Given the description of an element on the screen output the (x, y) to click on. 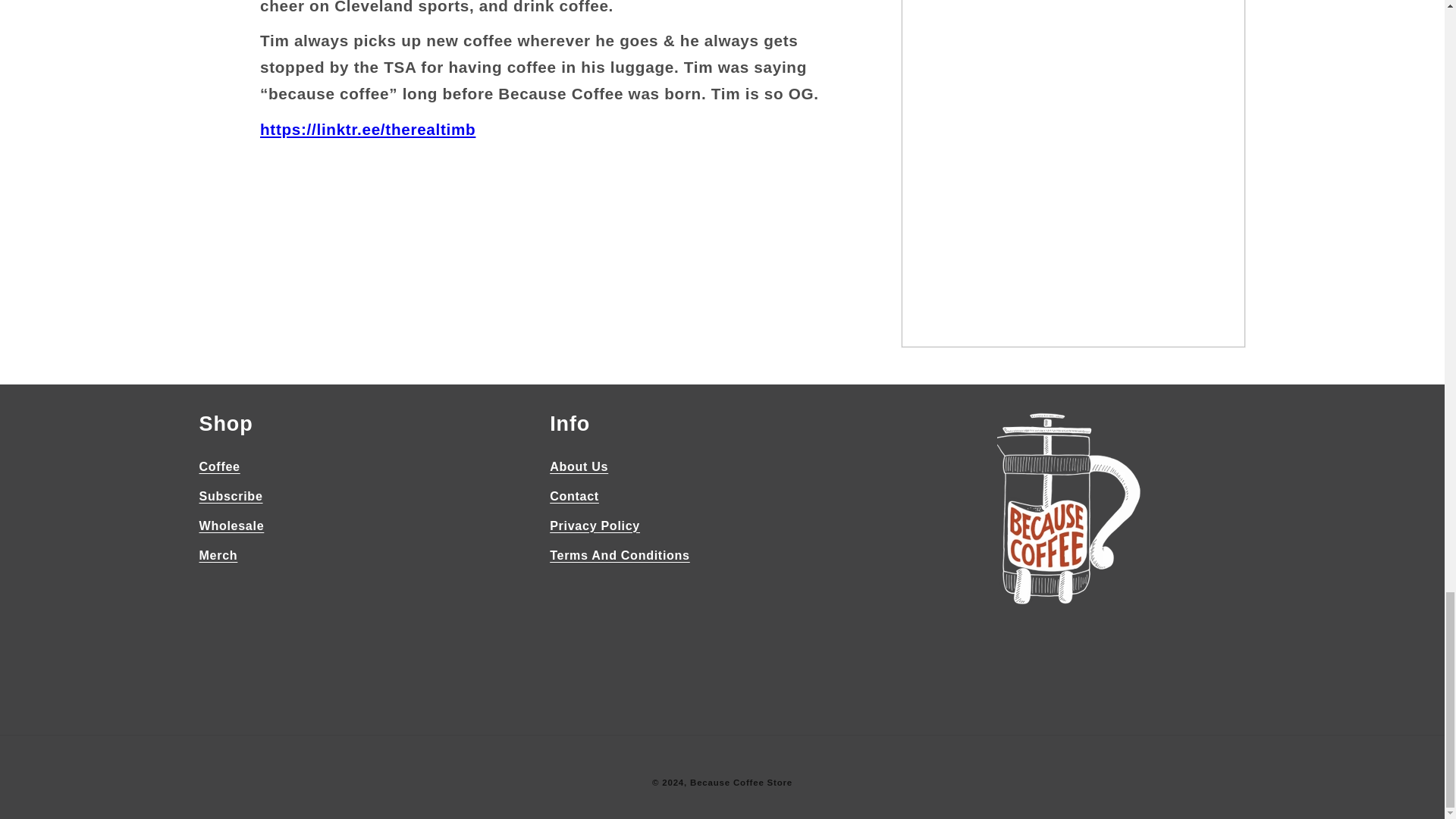
Coffee (219, 468)
Wholesale (230, 525)
About Us (579, 468)
Terms And Conditions (620, 555)
Merch (217, 555)
Contact (574, 496)
Because Coffee Store (741, 782)
Subscribe (230, 496)
Privacy Policy (595, 525)
